Given the description of an element on the screen output the (x, y) to click on. 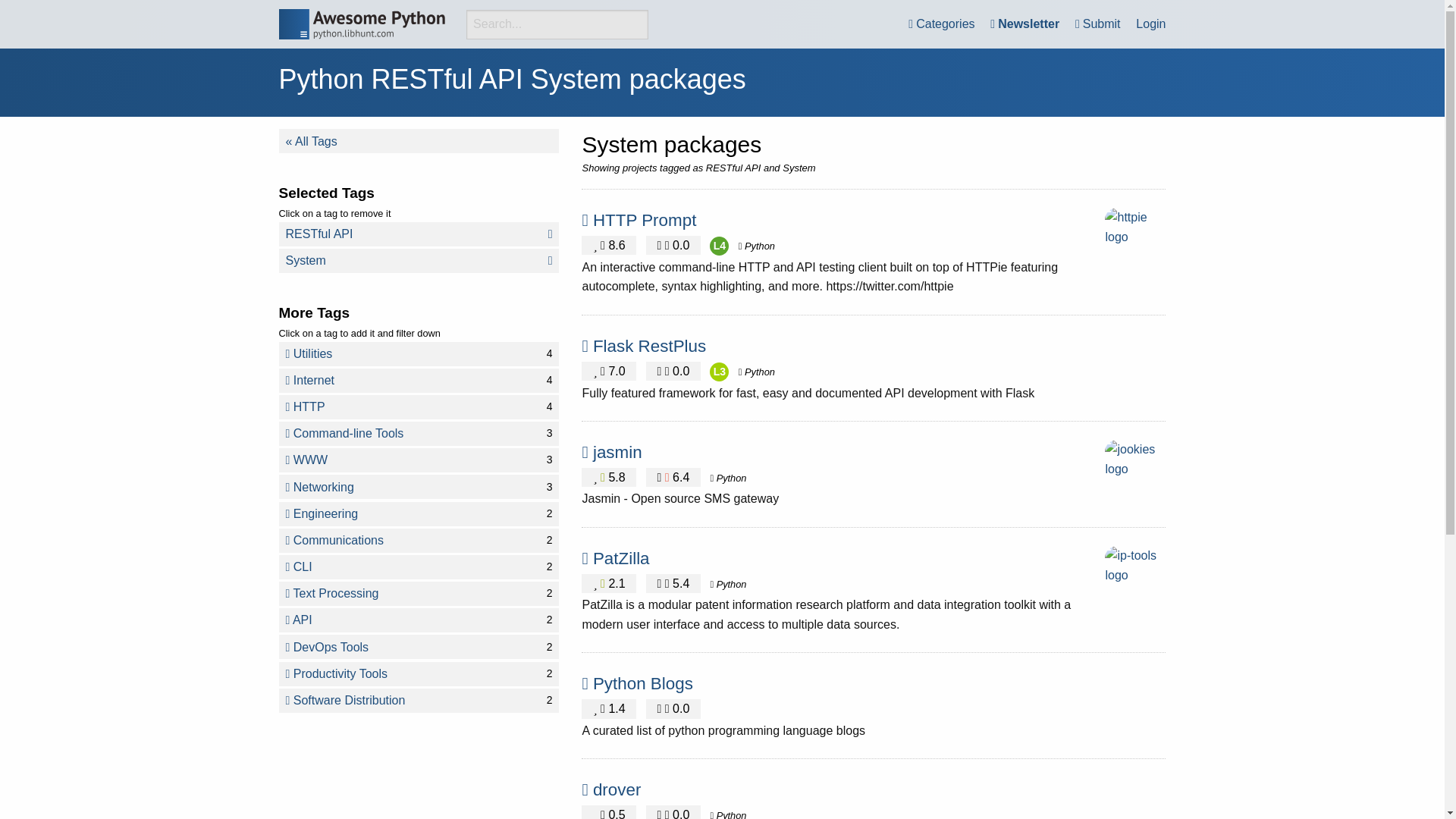
System (418, 260)
RESTful API (418, 233)
Submit (1098, 24)
Flask RestPlus (649, 345)
